Given the description of an element on the screen output the (x, y) to click on. 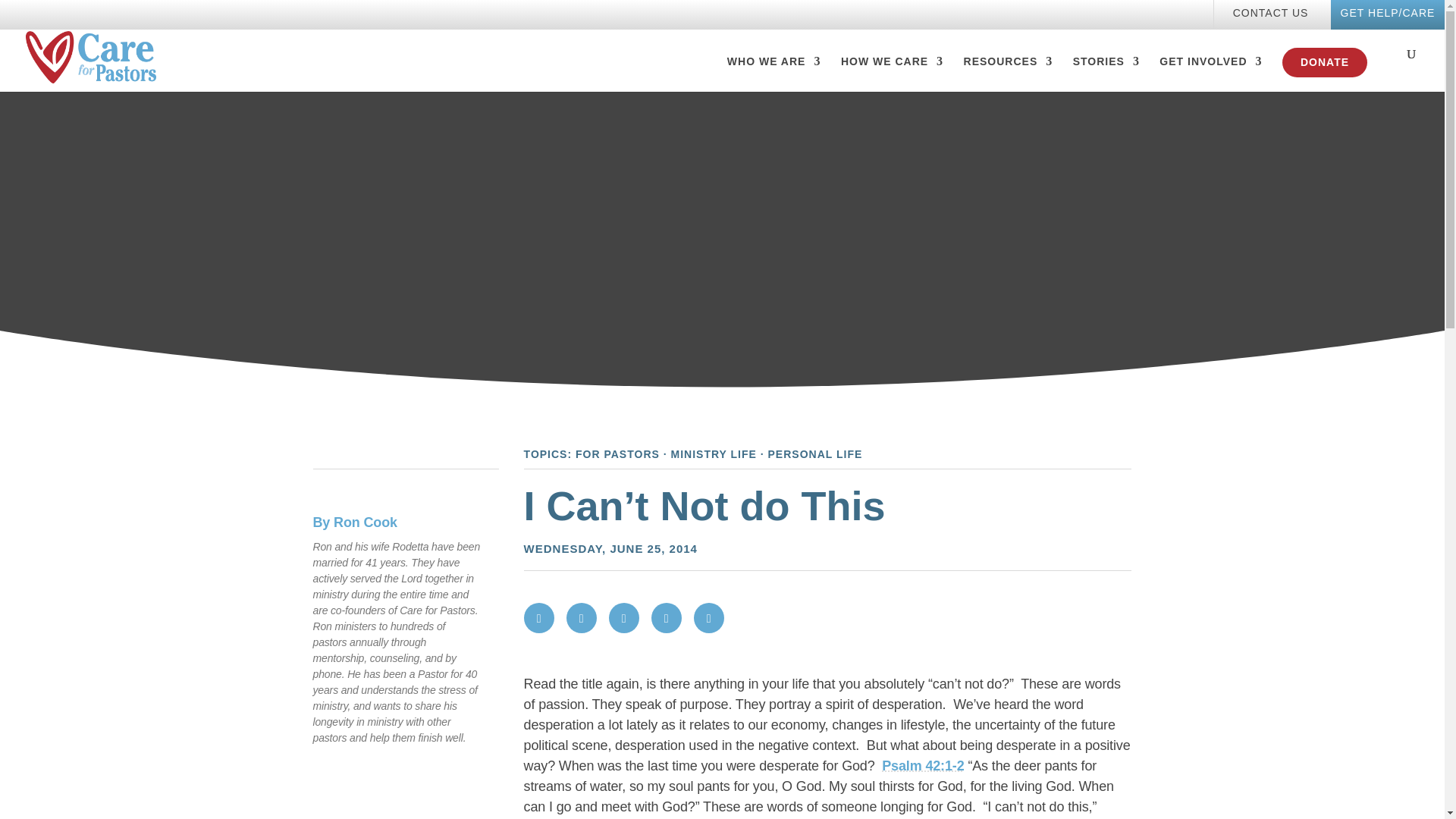
HOW WE CARE (892, 73)
RESOURCES (1007, 73)
WHO WE ARE (773, 73)
CONTACT US (1270, 16)
